Given the description of an element on the screen output the (x, y) to click on. 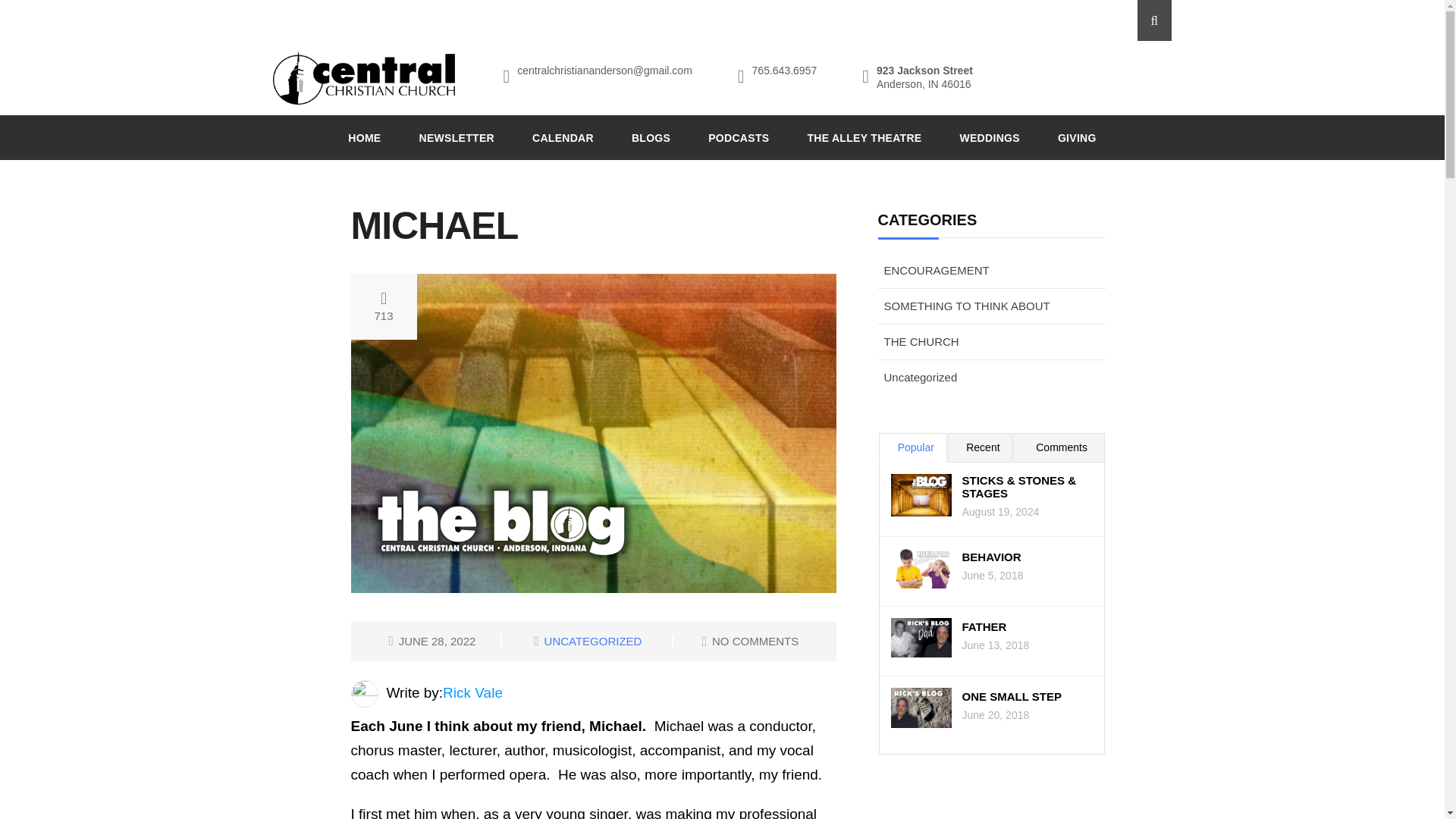
Recent (983, 447)
Uncategorized (921, 377)
ENCOURAGEMENT (937, 270)
PODCASTS (737, 137)
HOME (363, 137)
BLOGS (650, 137)
THE ALLEY THEATRE (863, 137)
NEWSLETTER (456, 137)
THE CHURCH (921, 341)
Popular (916, 447)
